Given the description of an element on the screen output the (x, y) to click on. 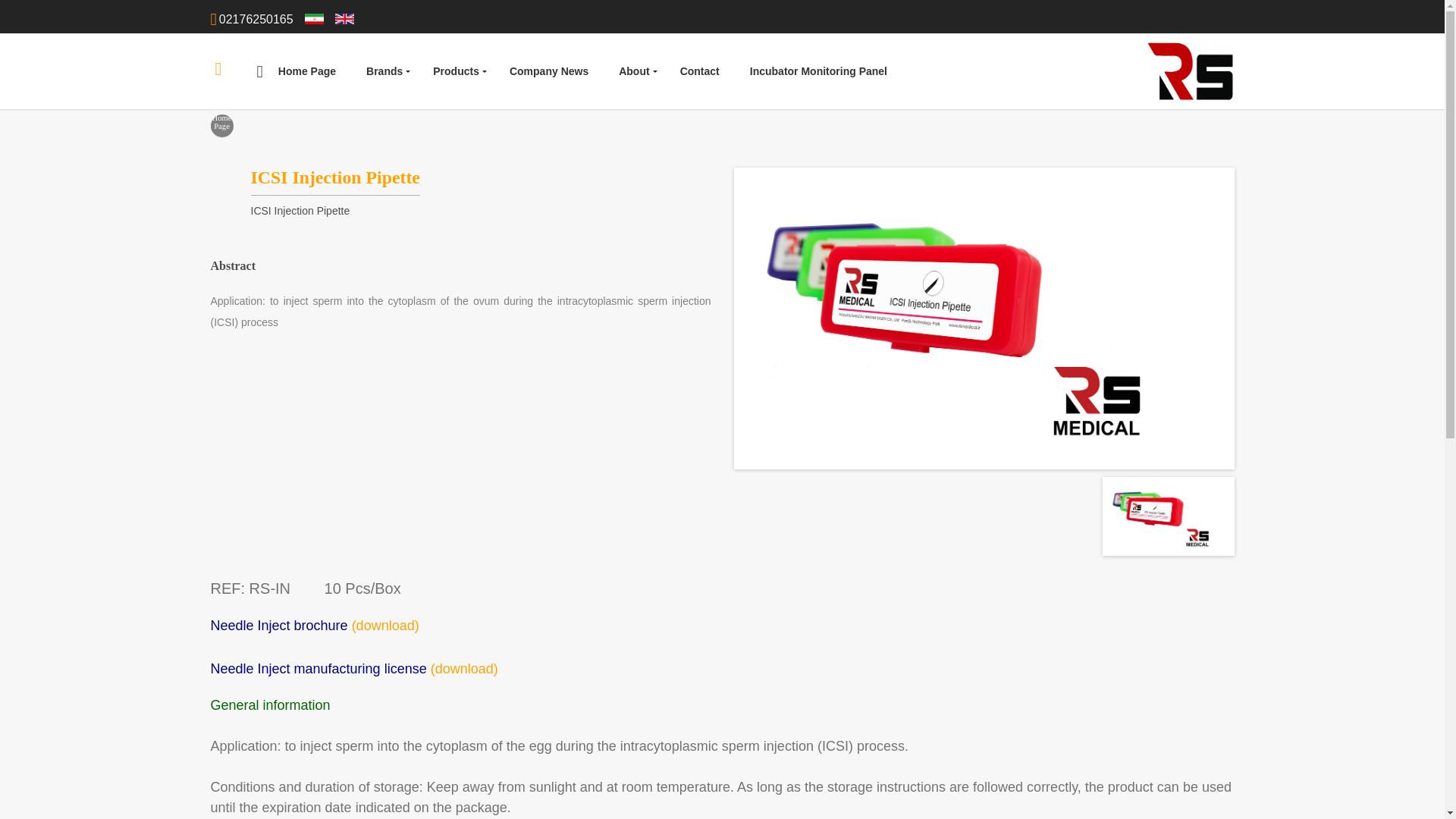
ICSI Injection Pipette (1167, 516)
